Given the description of an element on the screen output the (x, y) to click on. 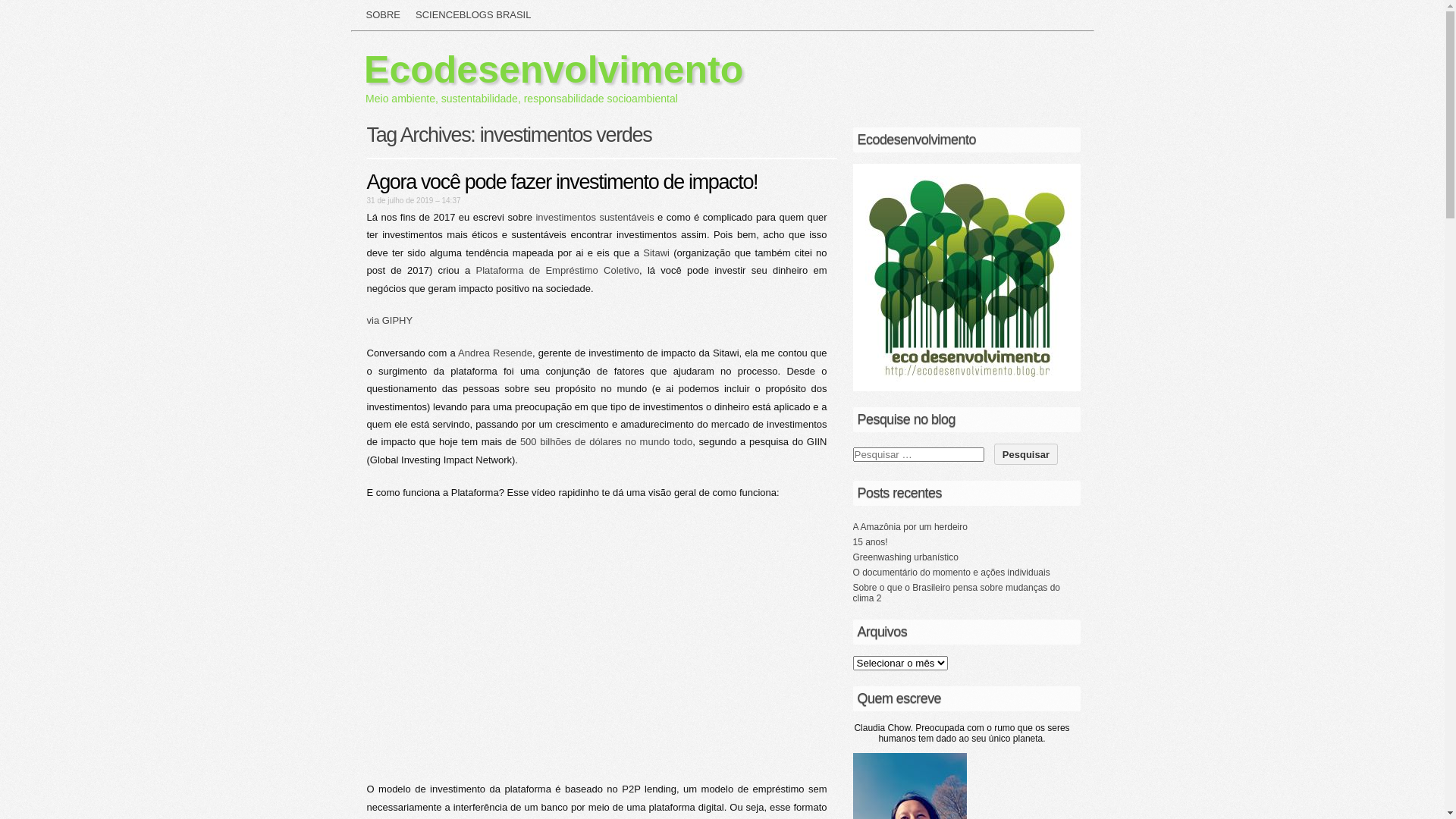
Vamos investir no impacto? Element type: hover (602, 647)
via GIPHY Element type: text (390, 320)
Andrea Resende Element type: text (495, 352)
Ecodesenvolvimento Element type: text (553, 69)
15 anos! Element type: text (869, 541)
SOBRE Element type: text (382, 15)
logo_ecodesenvolvimento1 Element type: hover (965, 277)
SCIENCEBLOGS BRASIL Element type: text (472, 15)
Pesquisar Element type: text (1025, 453)
Sitawi Element type: text (656, 252)
